Given the description of an element on the screen output the (x, y) to click on. 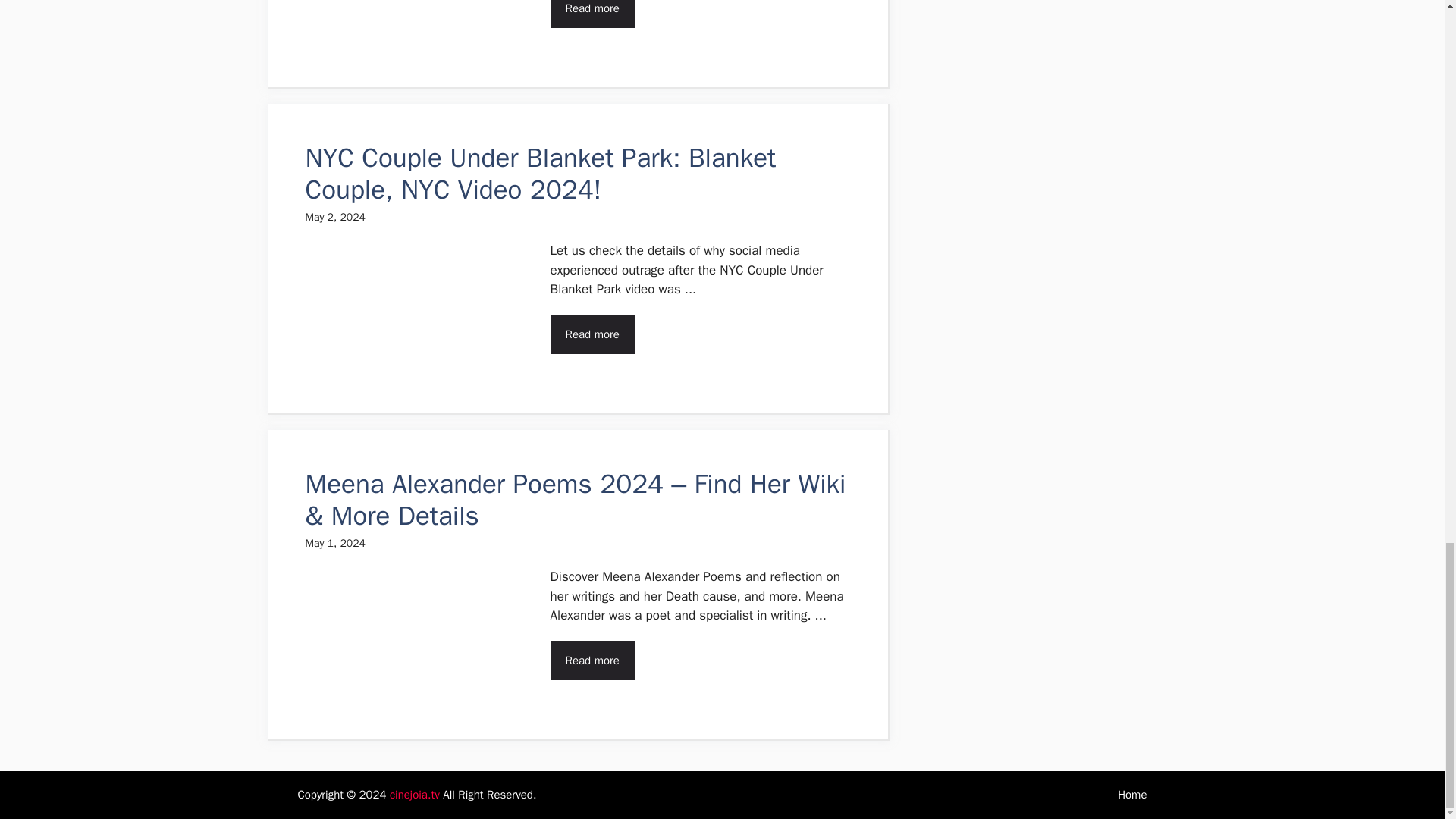
Read more (592, 14)
cinejoia.tv (414, 794)
Home (1132, 794)
Read more (592, 660)
Read more (592, 334)
